Given the description of an element on the screen output the (x, y) to click on. 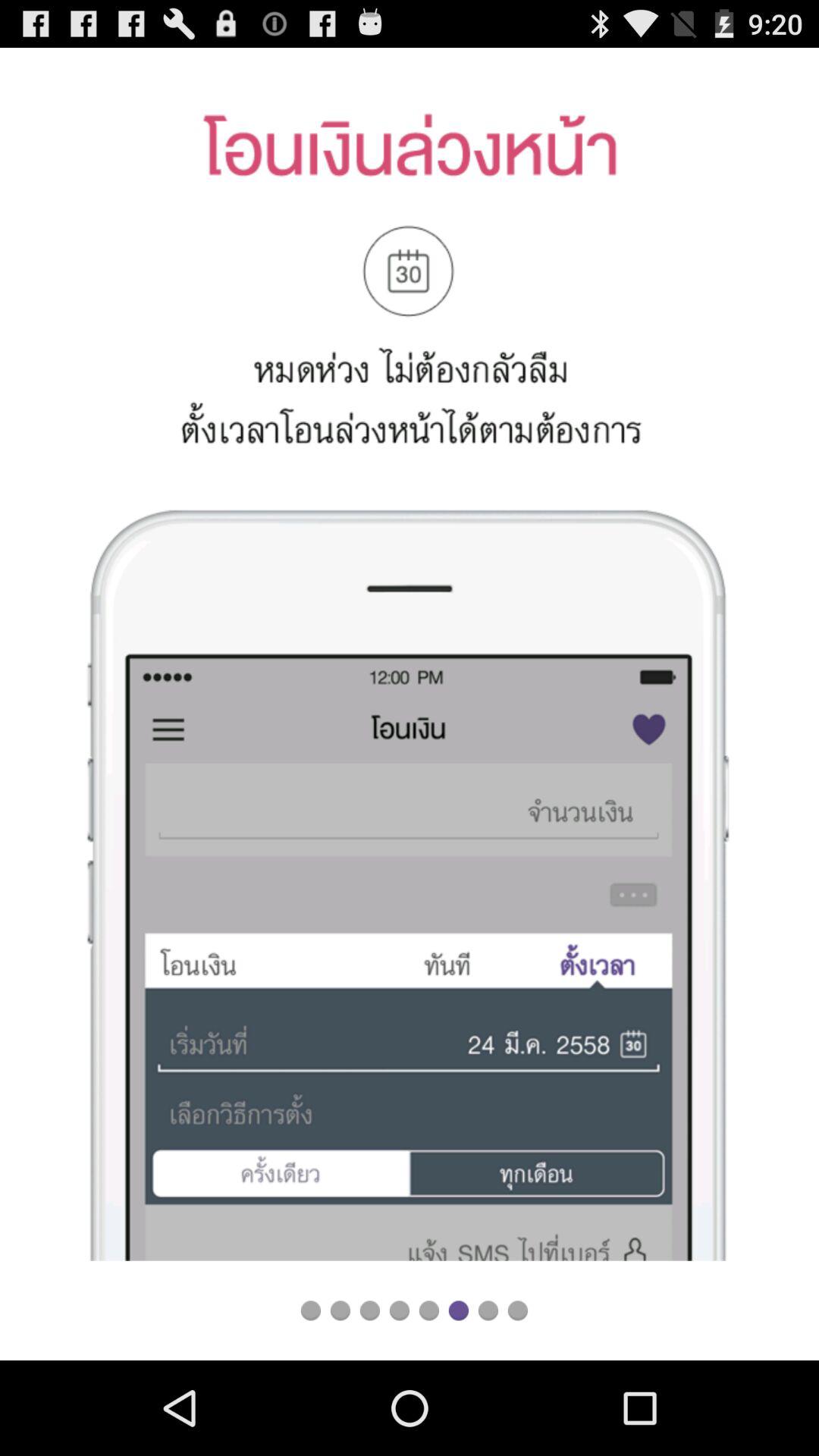
next slide show (488, 1310)
